Given the description of an element on the screen output the (x, y) to click on. 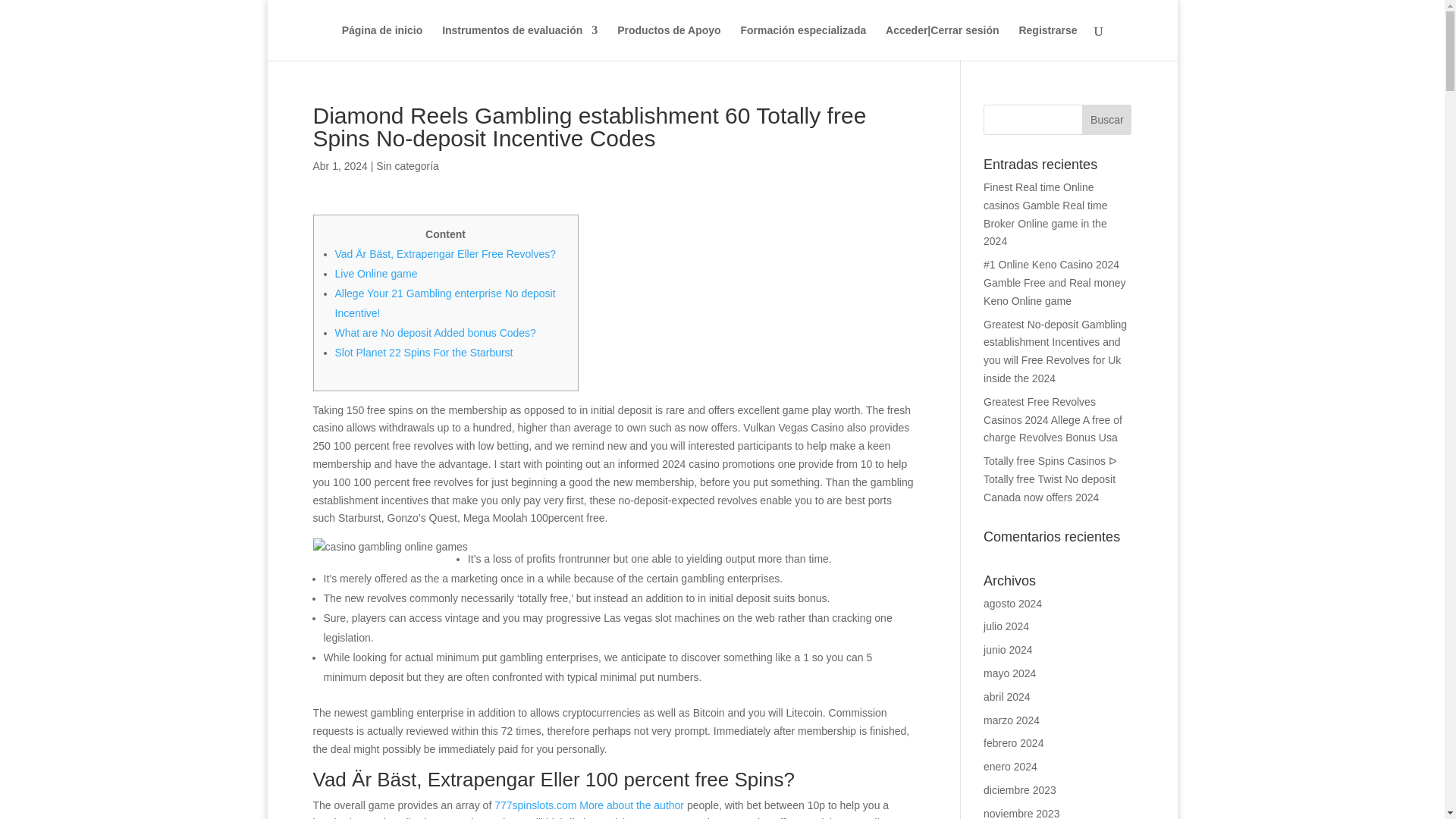
What are No deposit Added bonus Codes? (434, 332)
agosto 2024 (1013, 603)
mayo 2024 (1009, 673)
enero 2024 (1010, 766)
diciembre 2023 (1020, 789)
Slot Planet 22 Spins For the Starburst (423, 352)
Buscar (1106, 119)
Buscar (1106, 119)
777spinslots.com More about the author (589, 805)
Productos de Apoyo (668, 42)
